Given the description of an element on the screen output the (x, y) to click on. 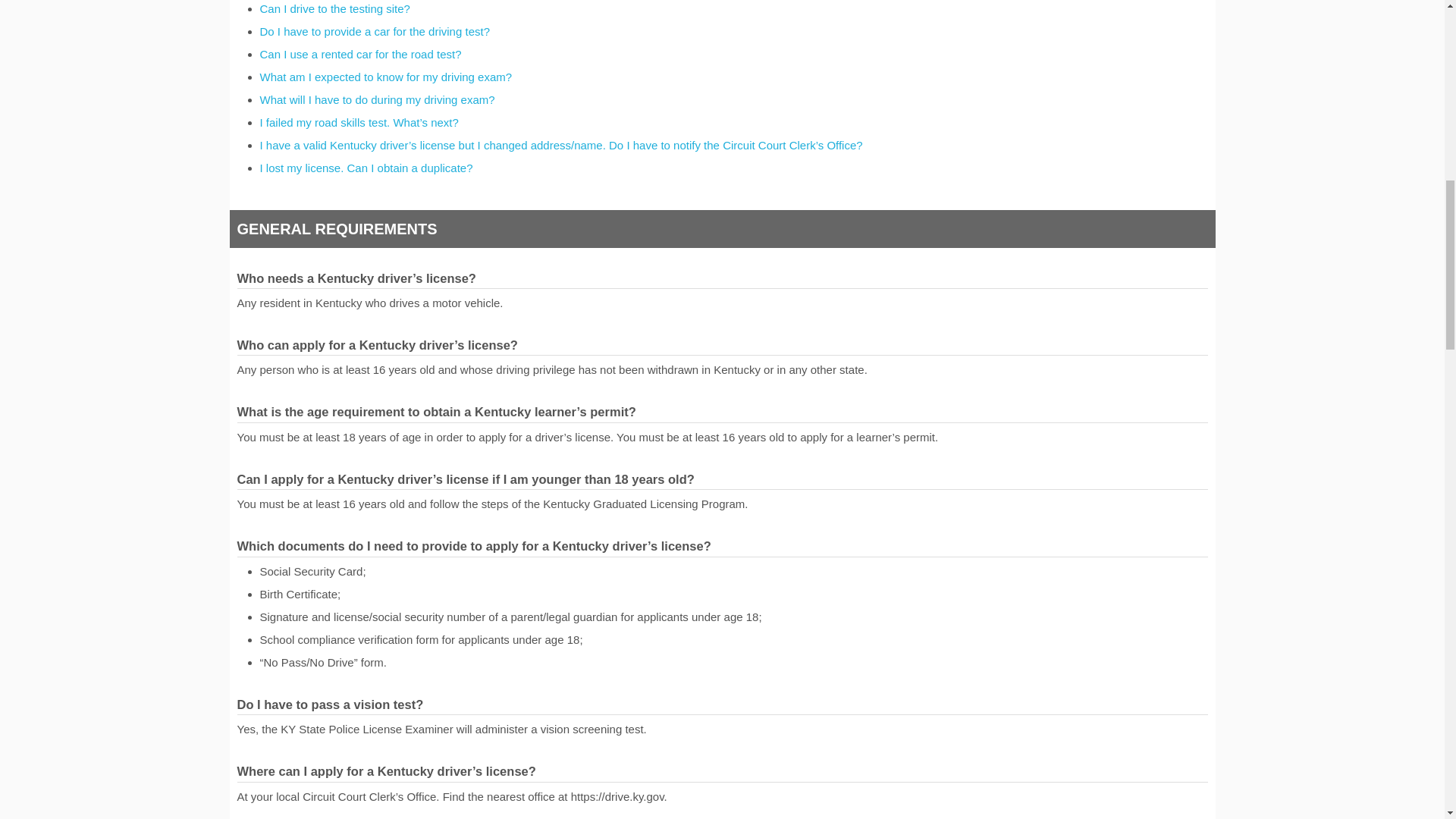
I lost my license. Can I obtain a duplicate? (365, 167)
Can I drive to the testing site? (334, 8)
Do I have to provide a car for the driving test? (374, 31)
What will I have to do during my driving exam? (377, 99)
What am I expected to know for my driving exam? (385, 76)
Can I use a rented car for the road test? (360, 53)
